Given the description of an element on the screen output the (x, y) to click on. 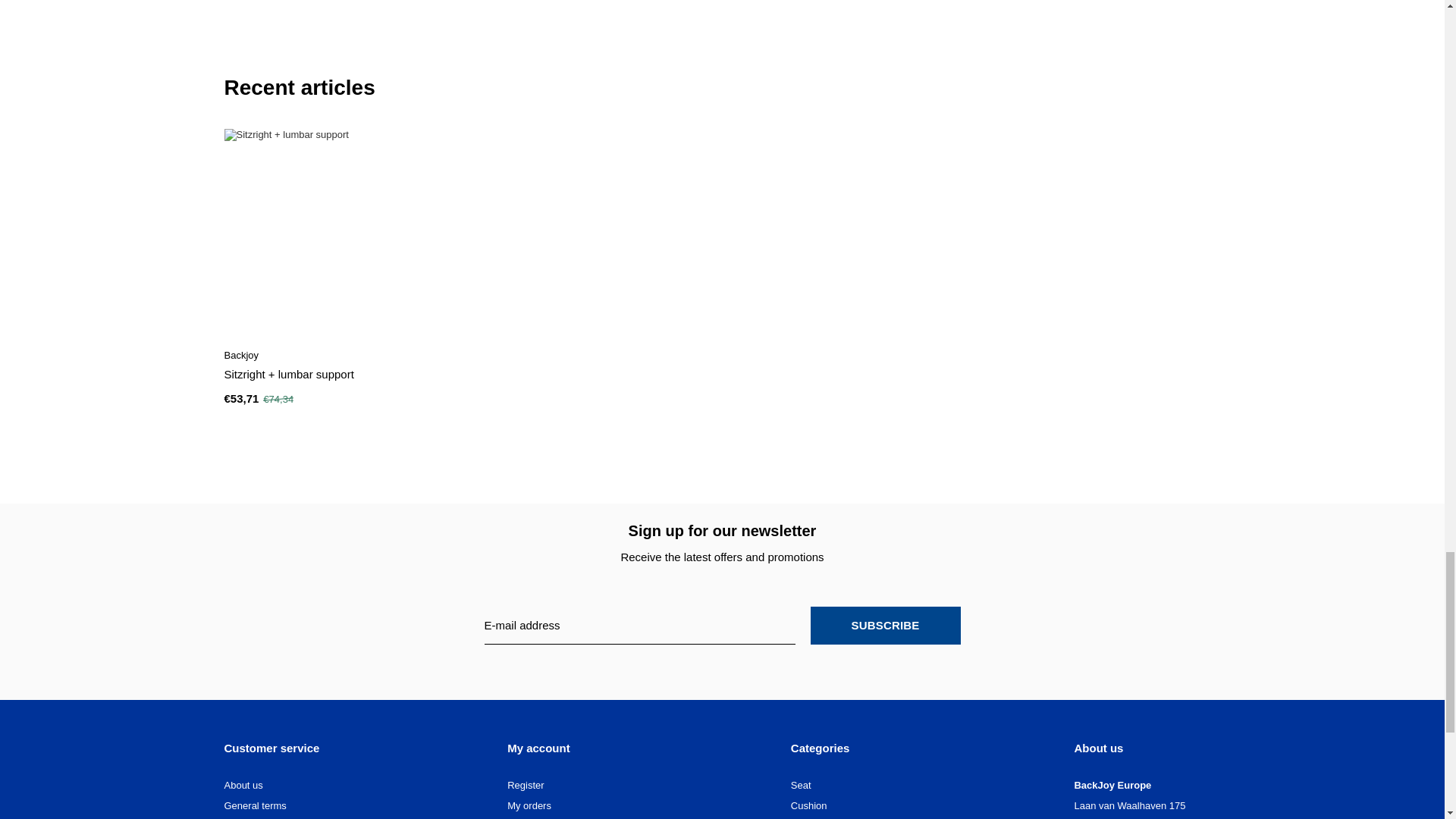
My orders (528, 805)
Register (524, 785)
